Given the description of an element on the screen output the (x, y) to click on. 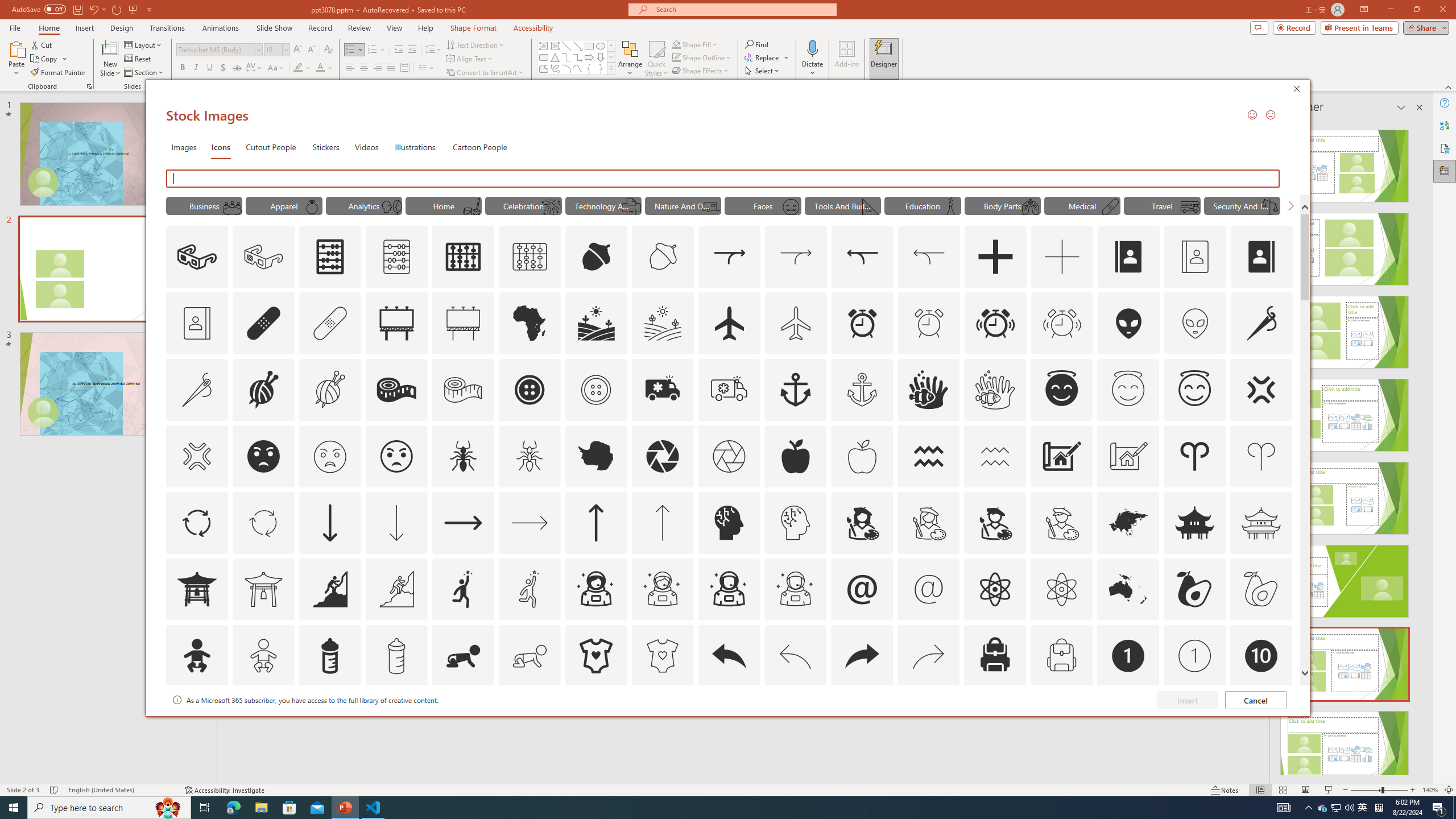
AutomationID: Icons_Acquisition_LTR_M (796, 256)
AutomationID: Icons_Aspiration_M (395, 588)
Curve (577, 68)
AutomationID: Icons_Badge5 (662, 721)
AutomationID: Icons_Badge10 (1260, 655)
Strikethrough (237, 67)
Arrow: Right (589, 57)
AutomationID: Icons (1260, 721)
